Given the description of an element on the screen output the (x, y) to click on. 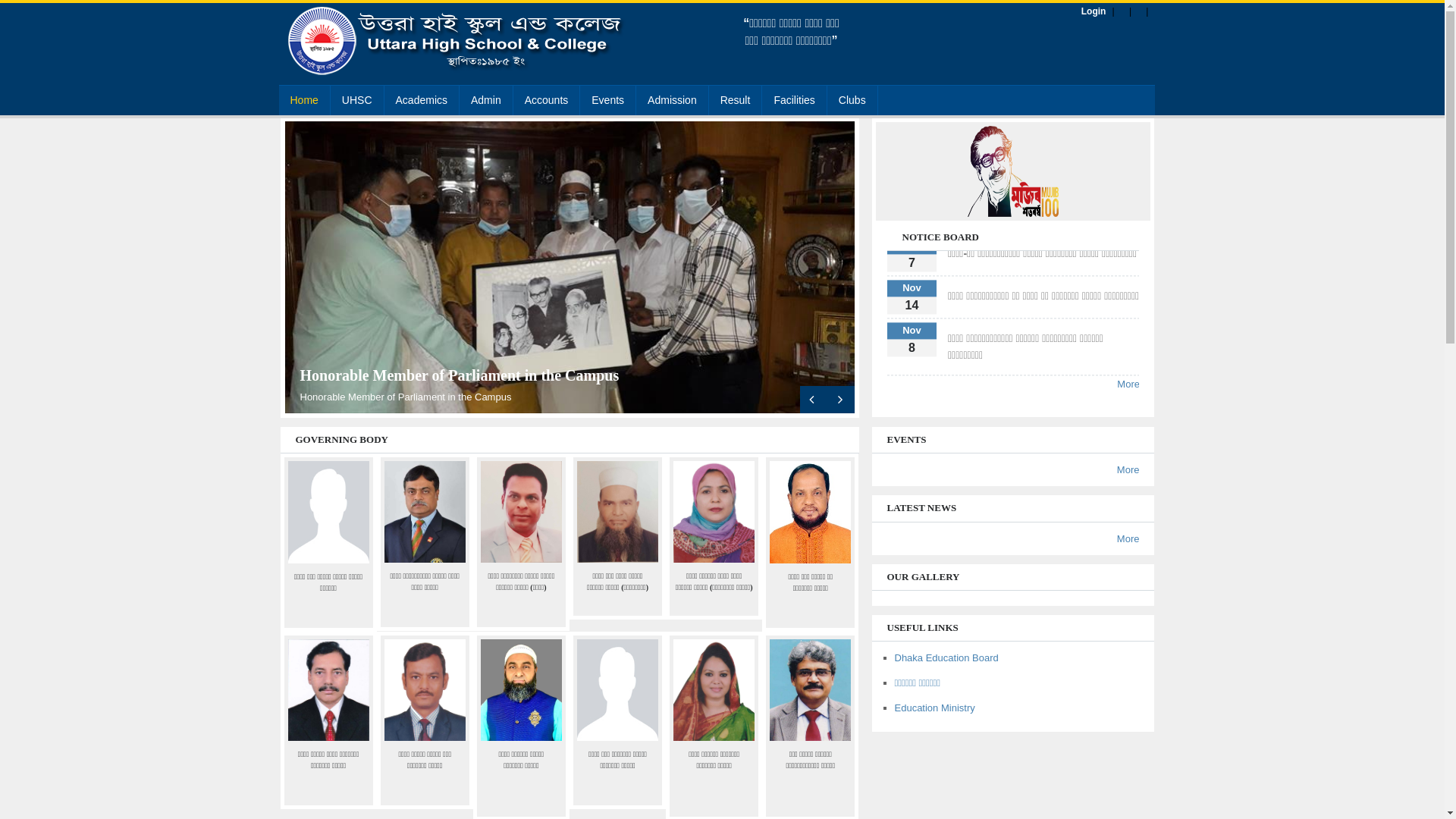
Admin Element type: text (485, 100)
UHSC Element type: text (356, 100)
Facilities Element type: text (793, 100)
Clubs Element type: text (852, 100)
Events Element type: text (607, 100)
  Element type: text (812, 399)
Home Element type: text (304, 100)
More Element type: text (1128, 538)
Login Element type: text (1093, 11)
More Element type: text (1128, 469)
Result Element type: text (735, 100)
Accounts Element type: text (546, 100)
  Element type: text (839, 399)
Admission Element type: text (672, 100)
Dhaka Education Board Element type: text (946, 657)
More Element type: text (1128, 580)
Education Ministry Element type: text (934, 707)
Academics Element type: text (421, 100)
Bangabandhu Sheikh Mujibur Rahman Element type: text (429, 375)
